Given the description of an element on the screen output the (x, y) to click on. 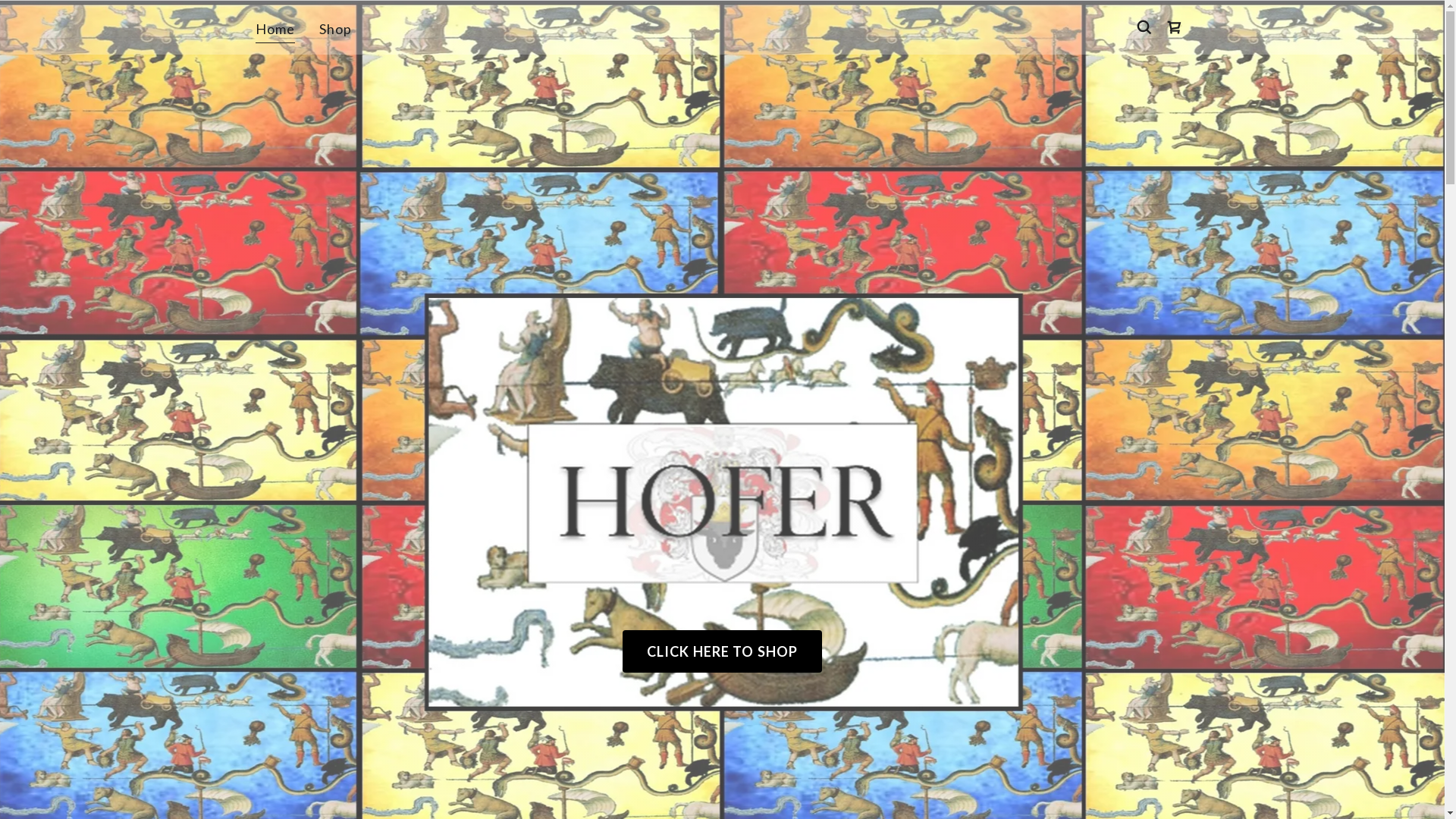
CLICK HERE TO SHOP Element type: text (722, 651)
Home Element type: text (274, 30)
Shop Element type: text (335, 28)
